Given the description of an element on the screen output the (x, y) to click on. 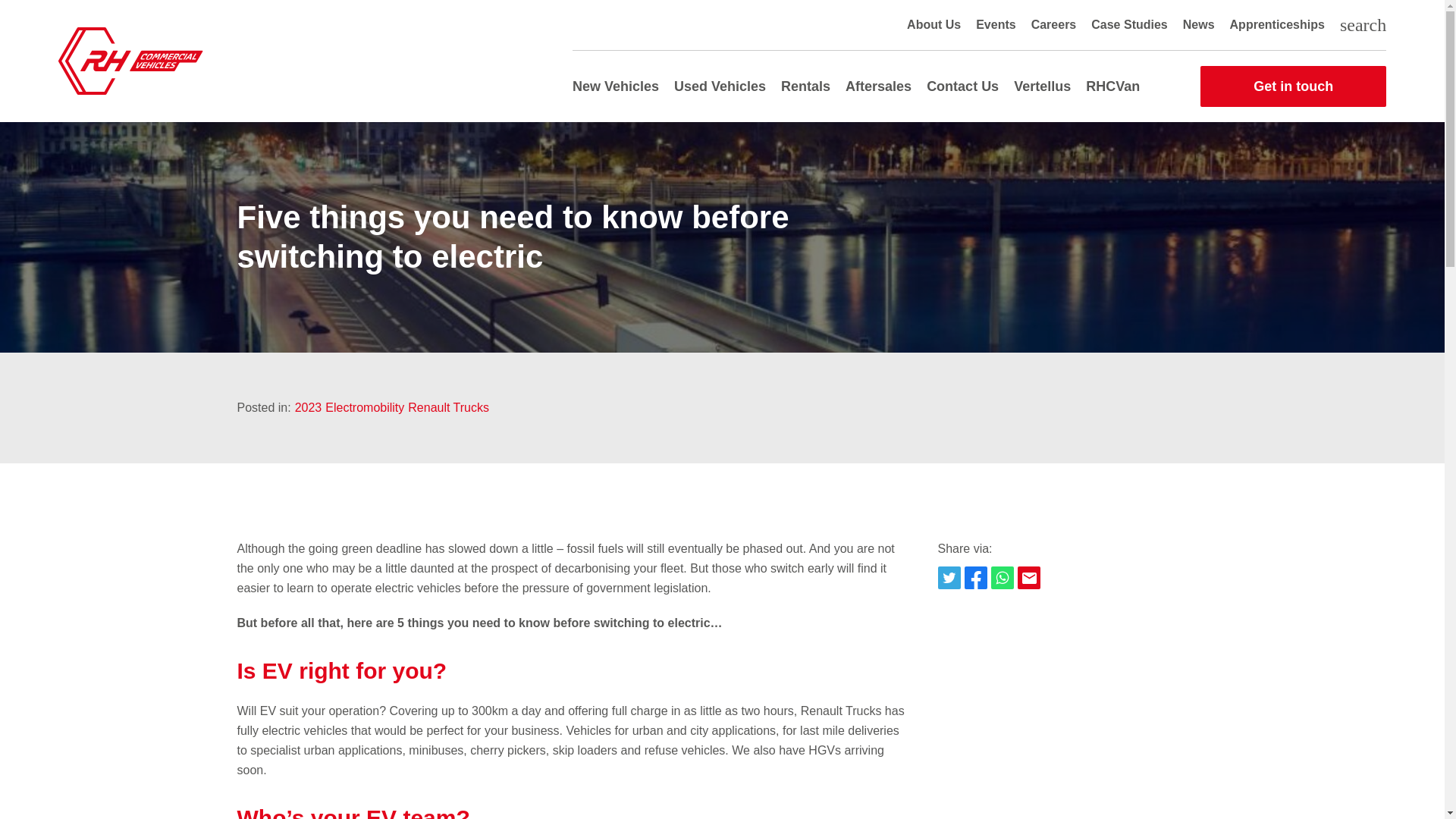
2023 (308, 407)
Contact Us (962, 86)
Electromobility (364, 407)
Used Vehicles (719, 86)
New Vehicles (615, 86)
Careers (1053, 25)
Get in touch (1292, 86)
Apprenticeships (1277, 25)
Case Studies (1128, 25)
RHCVan (1113, 86)
